Given the description of an element on the screen output the (x, y) to click on. 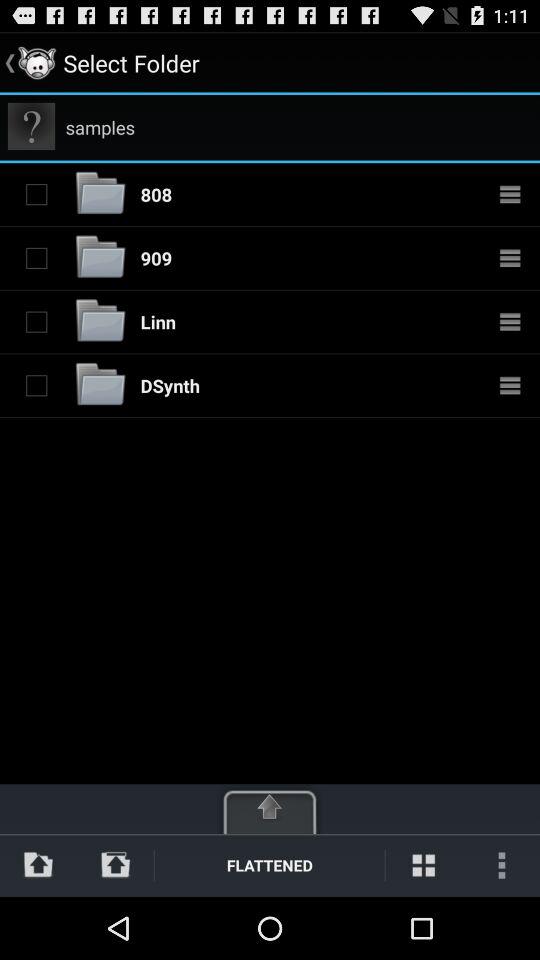
see what 's in this folder (510, 193)
